Given the description of an element on the screen output the (x, y) to click on. 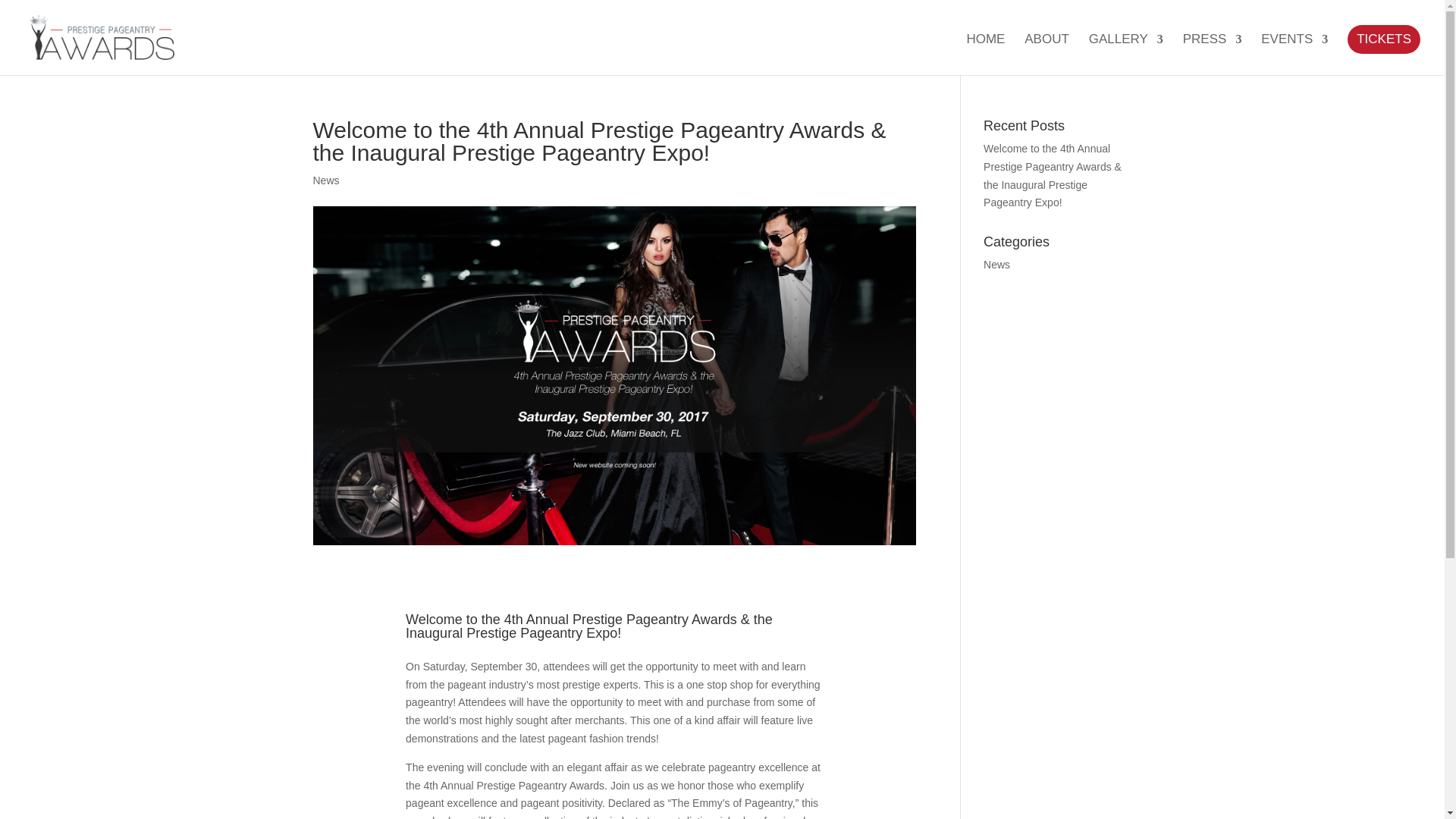
HOME (985, 54)
PRESS (1211, 54)
ABOUT (1046, 54)
News (997, 264)
EVENTS (1293, 54)
GALLERY (1126, 54)
TICKETS (1384, 39)
News (326, 180)
